Given the description of an element on the screen output the (x, y) to click on. 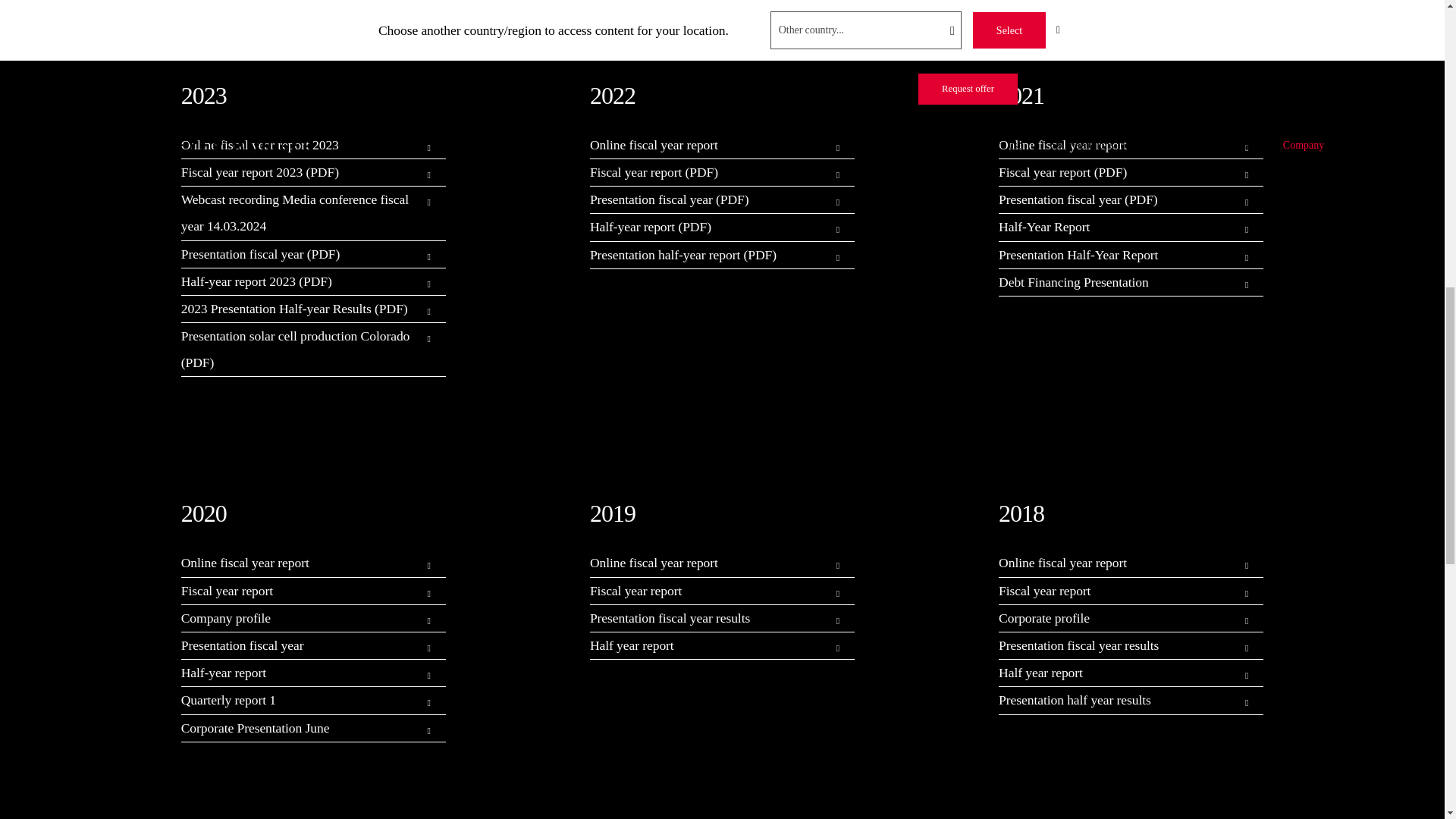
Presentation Half-year Report 2022 (708, 254)
Online fiscal year report 2020 (299, 562)
Online fiscal year report 2018 (1117, 562)
Presentation Half-Year Report (1117, 254)
Meyer Burger Half-year Report 2022 (708, 226)
Presentation Fiscal Year 2020 (299, 645)
Fiscal year report 2020 (299, 591)
Online fiscal year report (1117, 144)
Company Profile 2020 (299, 618)
Online fiscal year report (708, 144)
